Given the description of an element on the screen output the (x, y) to click on. 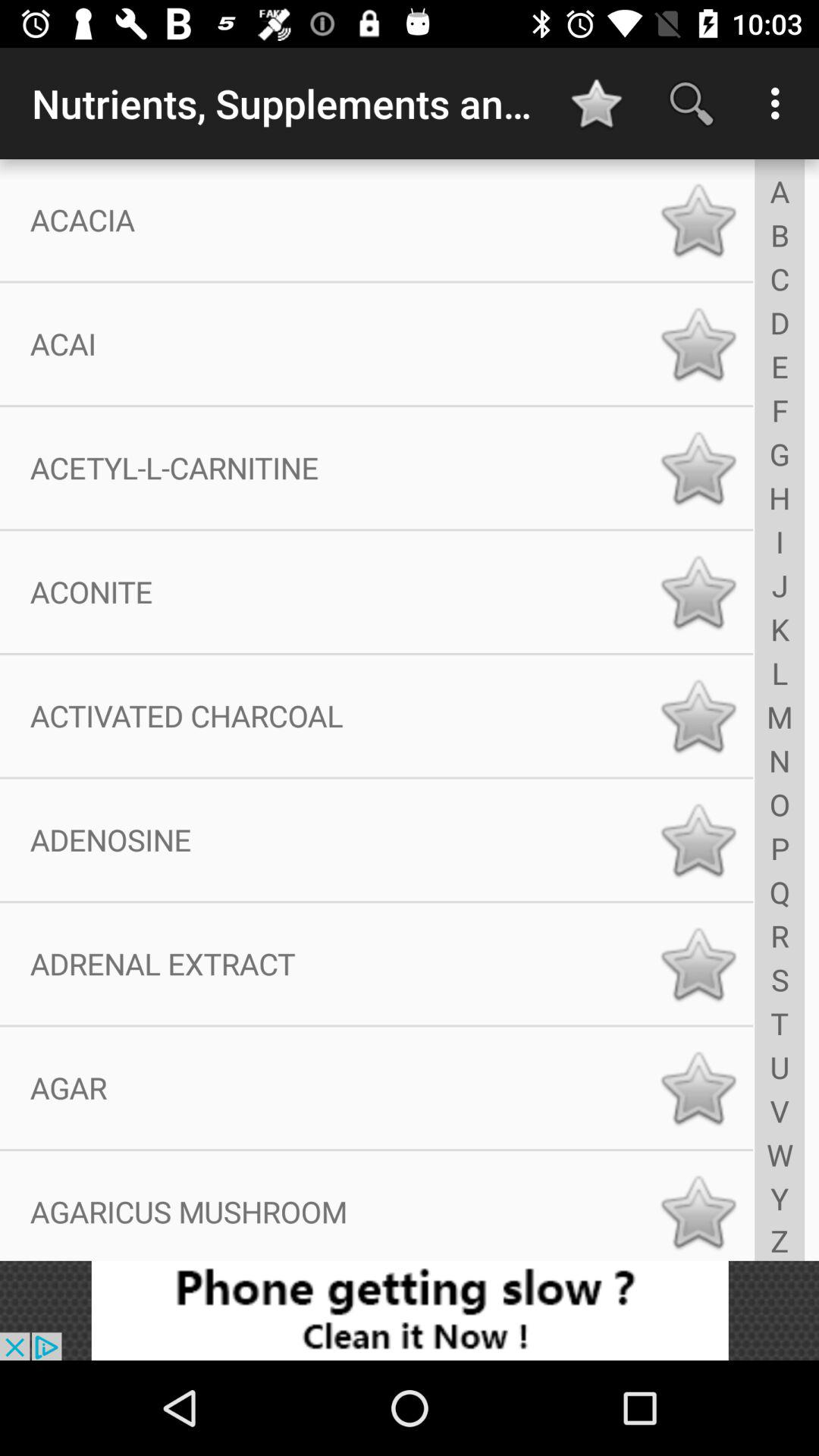
go to favorite (697, 592)
